Given the description of an element on the screen output the (x, y) to click on. 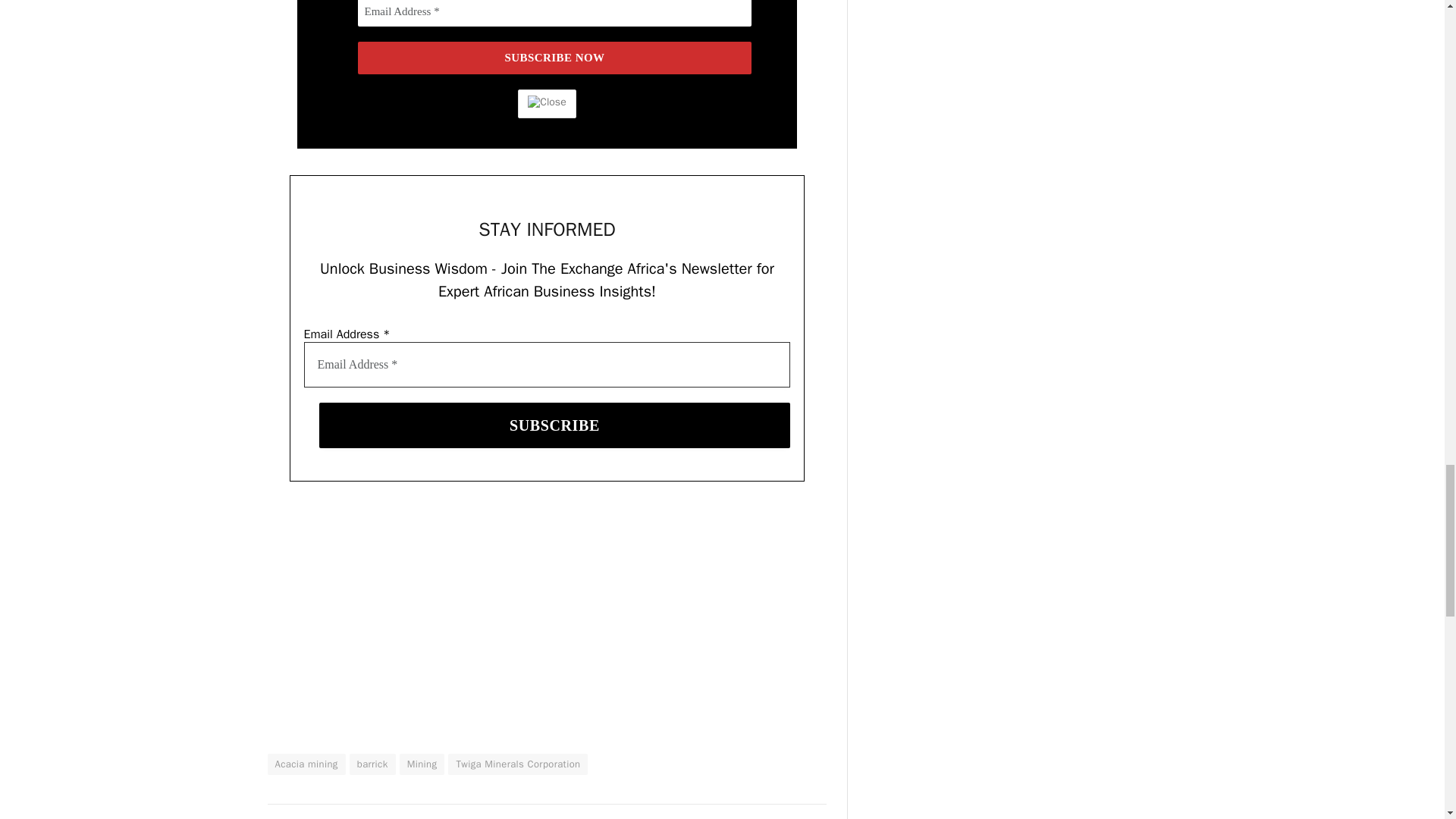
SUBSCRIBE NOW (555, 57)
SUBSCRIBE (554, 424)
